Given the description of an element on the screen output the (x, y) to click on. 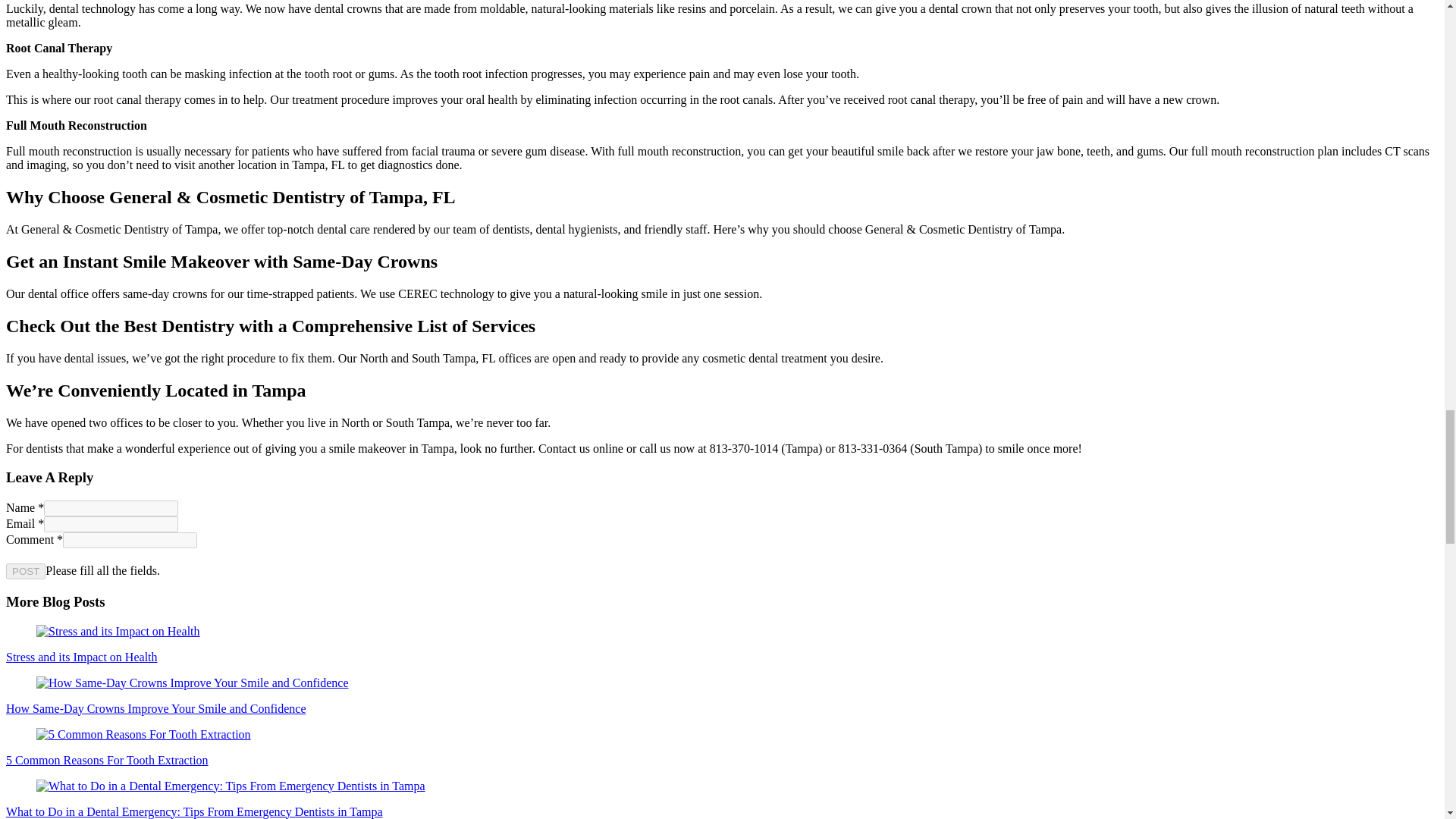
Stress and its Impact on Health (118, 631)
How Same-Day Crowns Improve Your Smile and Confidence (192, 683)
5 Common Reasons For Tooth Extraction (143, 735)
